Given the description of an element on the screen output the (x, y) to click on. 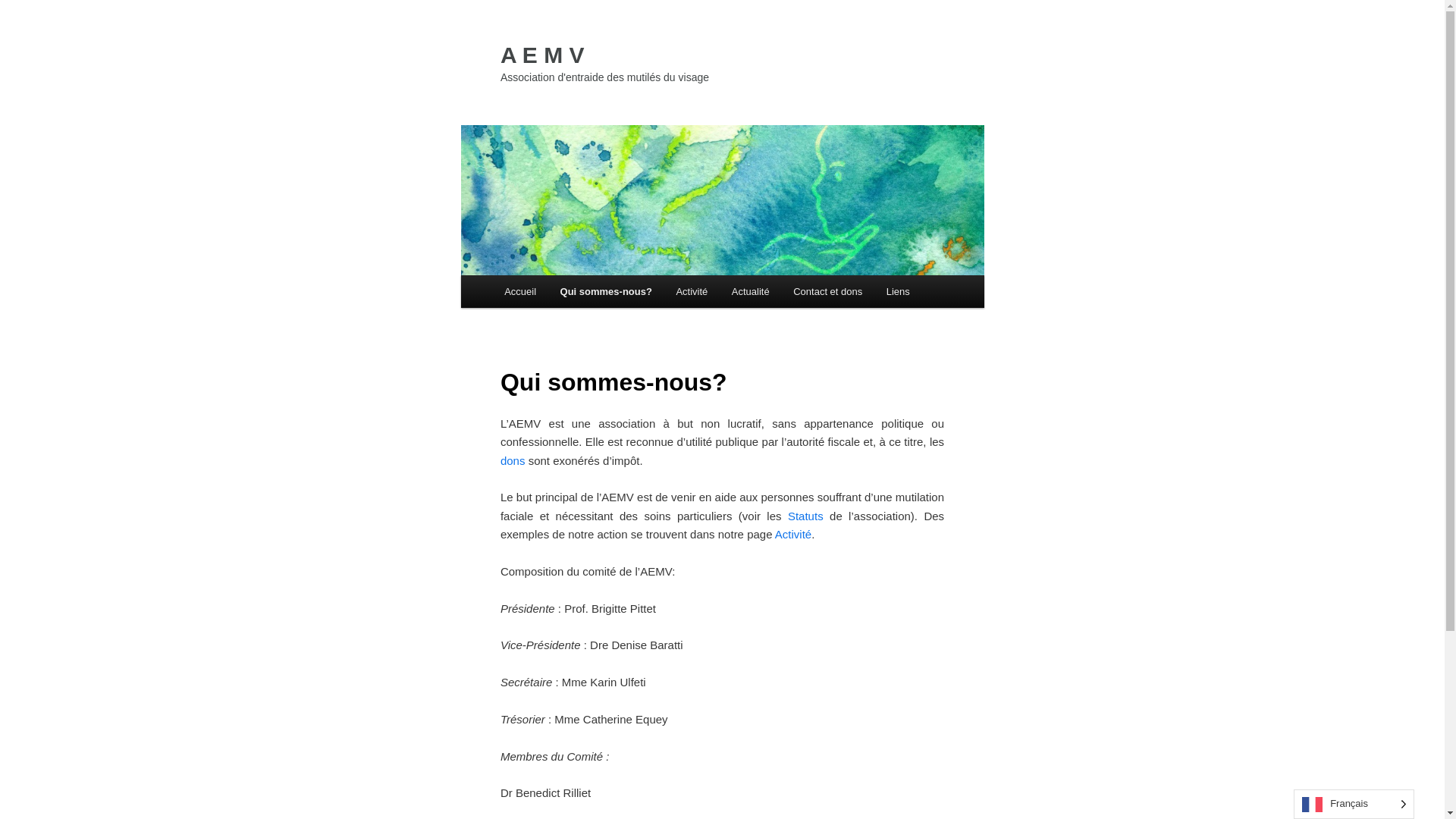
A E M V Element type: text (542, 54)
Aller au contenu principal Element type: text (514, 275)
Qui sommes-nous? Element type: text (606, 291)
Contact et dons Element type: text (827, 291)
Liens Element type: text (898, 291)
Statuts Element type: text (805, 515)
dons Element type: text (514, 460)
Accueil Element type: text (519, 291)
